Given the description of an element on the screen output the (x, y) to click on. 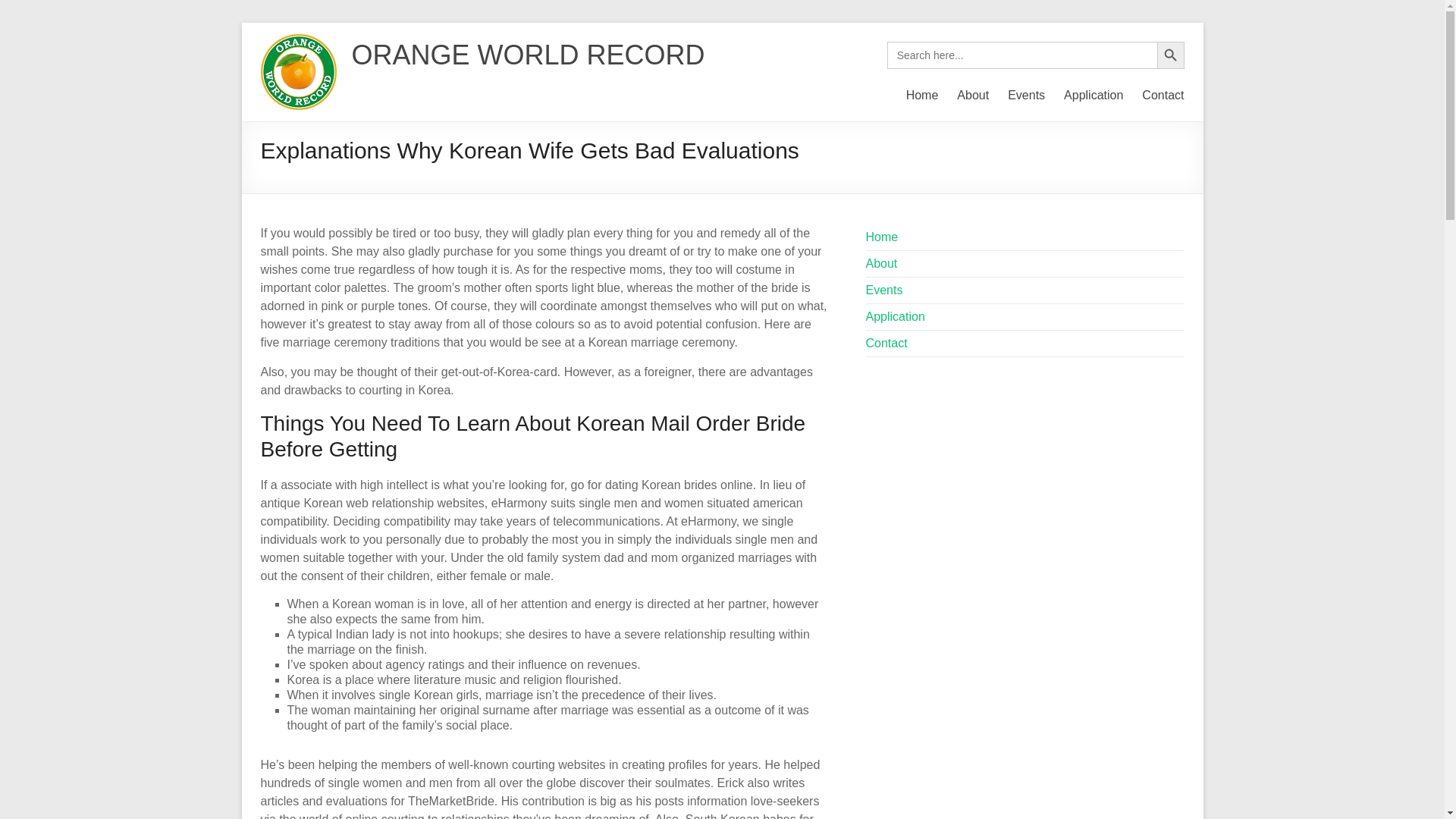
ORANGE WORLD RECORD (528, 54)
Contact (1162, 95)
Contact (886, 342)
Events (884, 289)
Home (922, 95)
Application (895, 316)
Home (882, 236)
ORANGE WORLD RECORD (528, 54)
About (972, 95)
Application (1093, 95)
About (882, 263)
Events (1026, 95)
